Given the description of an element on the screen output the (x, y) to click on. 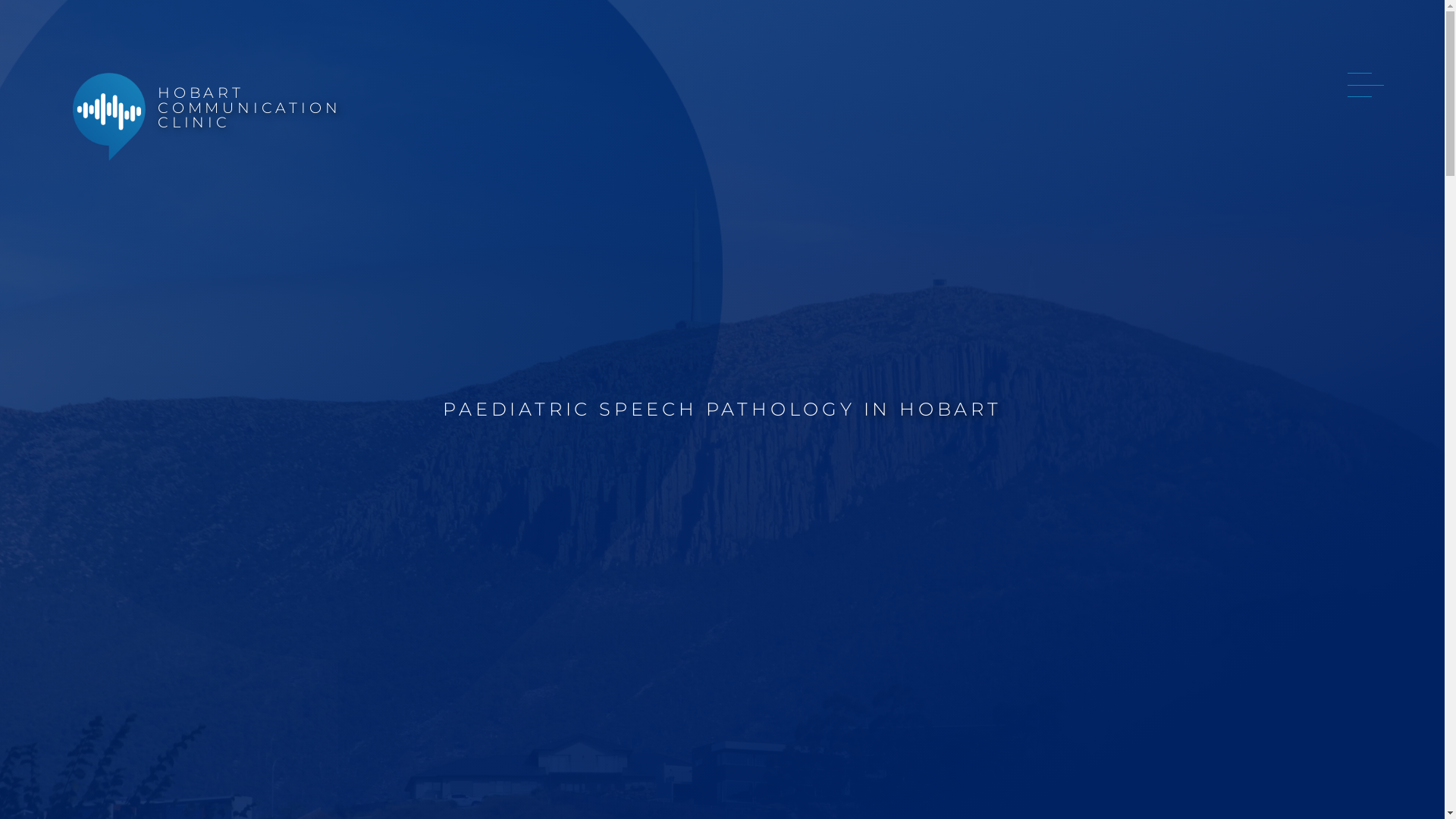
HOBART COMMUNICATION CLINIC Element type: text (213, 116)
